Given the description of an element on the screen output the (x, y) to click on. 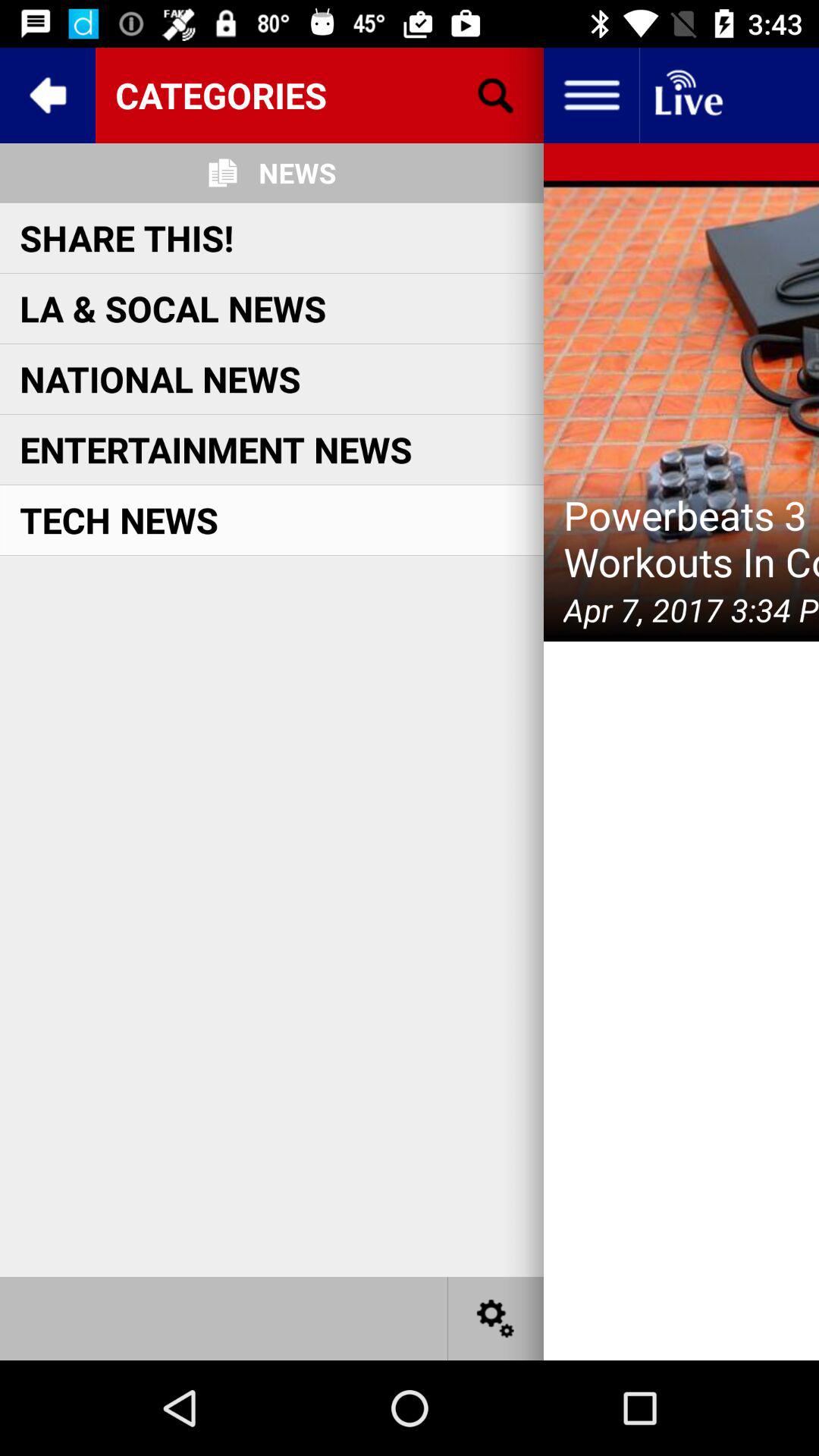
he can activate the simple voice command (495, 1318)
